Given the description of an element on the screen output the (x, y) to click on. 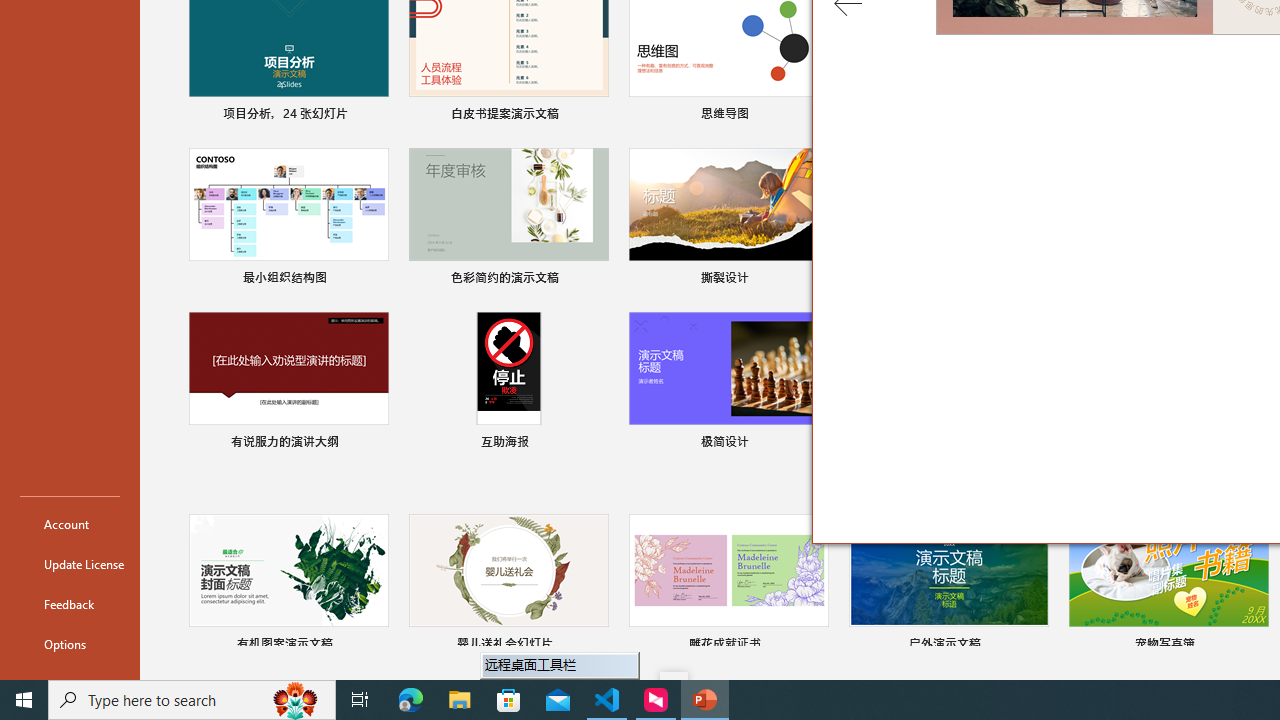
Account (69, 523)
Options (69, 643)
Pin to list (1255, 645)
